Given the description of an element on the screen output the (x, y) to click on. 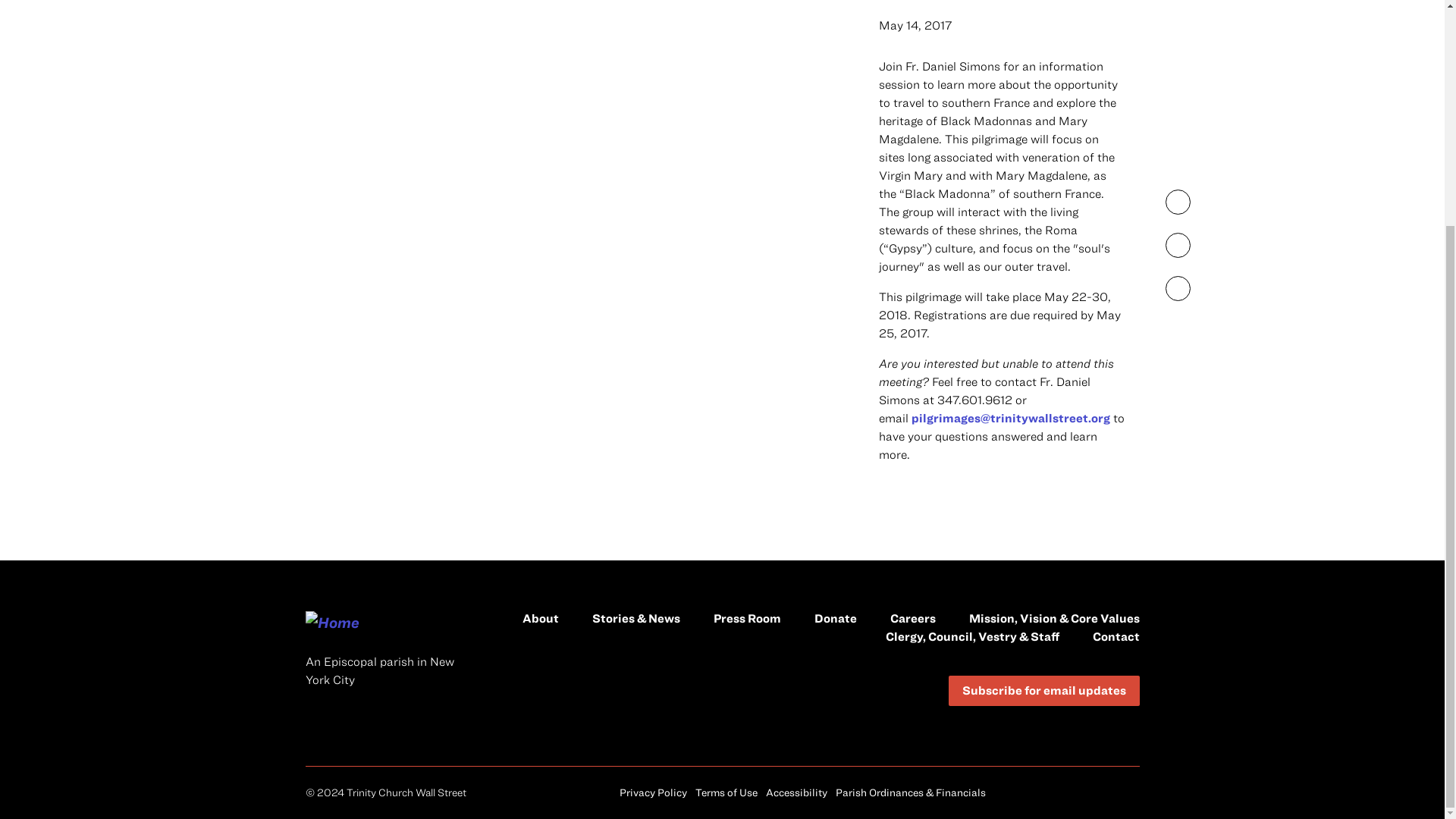
Donate (835, 617)
Careers (912, 617)
Privacy Policy (653, 792)
About (539, 617)
Directory (972, 635)
Terms of Use (726, 792)
Subscribe for email updates (1042, 690)
Contact (1115, 635)
Donate (835, 617)
The Kaltura Dynamic Video Player (569, 104)
